Given the description of an element on the screen output the (x, y) to click on. 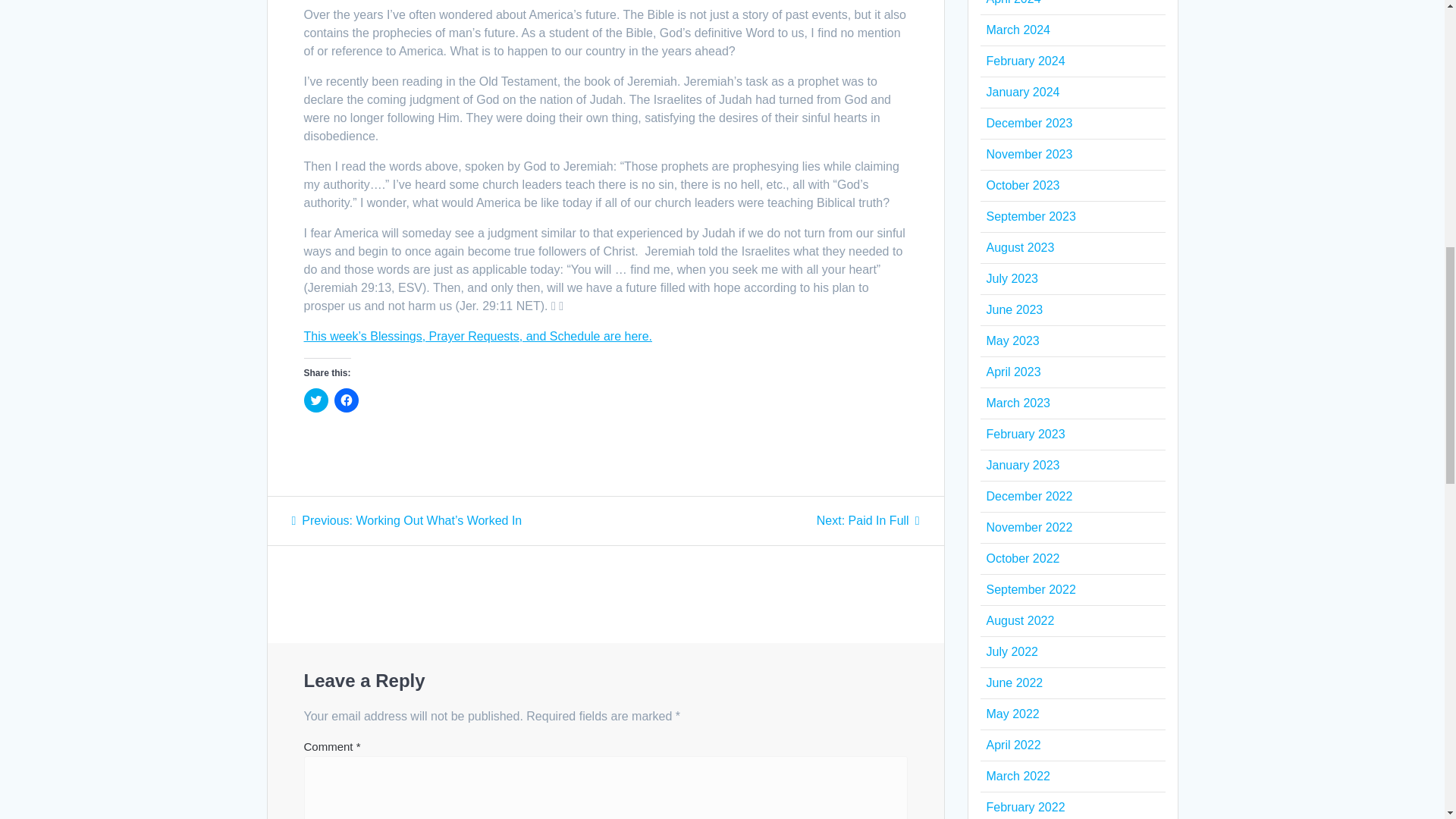
June 2023 (1013, 309)
April 2023 (1013, 371)
Click to share on Twitter (314, 400)
March 2023 (1017, 402)
May 2023 (1012, 340)
December 2023 (1028, 123)
August 2023 (1019, 246)
October 2023 (1022, 185)
Click to share on Facebook (345, 400)
July 2023 (1011, 278)
November 2023 (1028, 154)
March 2024 (868, 520)
February 2024 (1017, 29)
January 2024 (1024, 60)
